Given the description of an element on the screen output the (x, y) to click on. 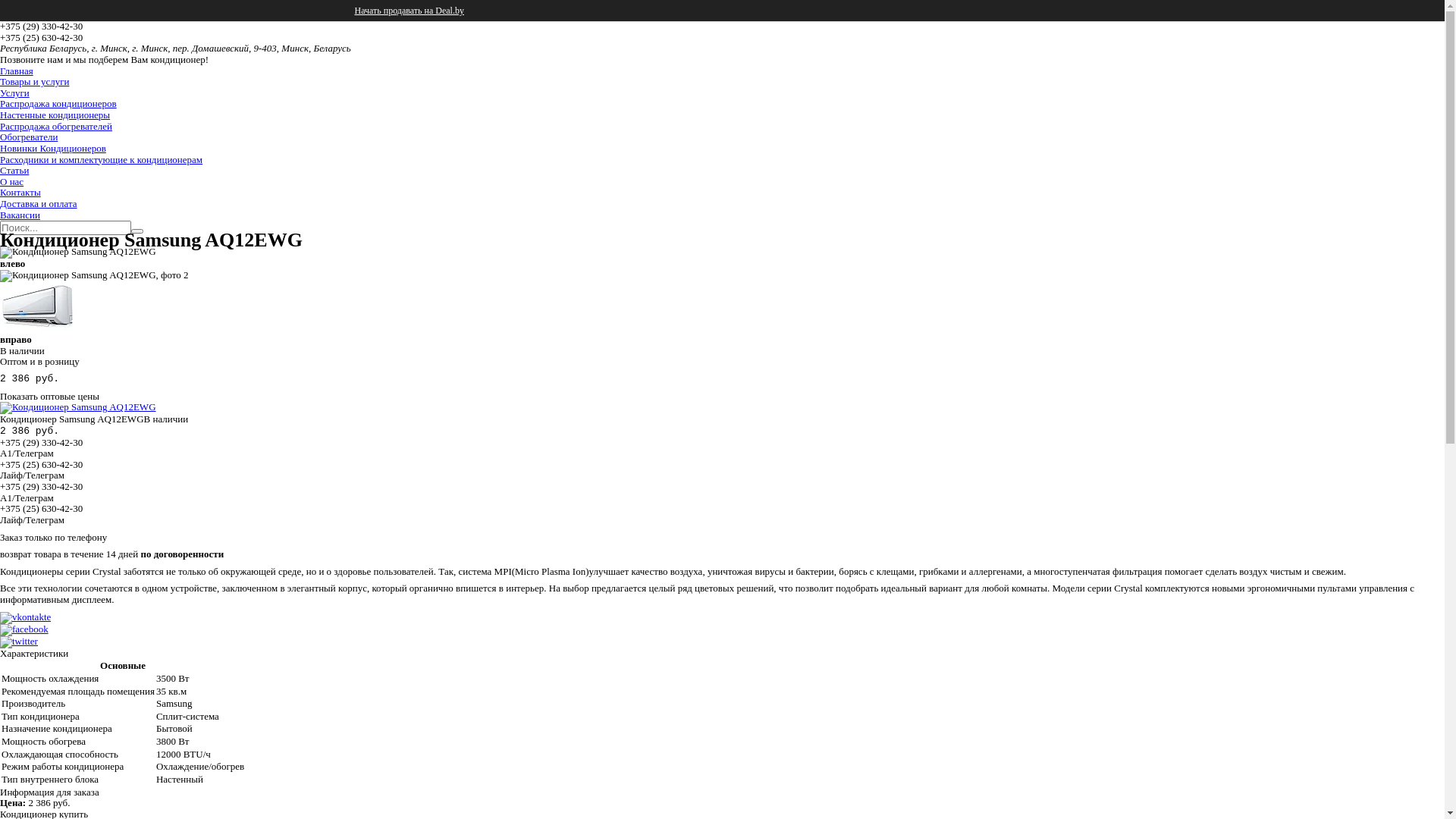
facebook Element type: hover (24, 628)
twitter Element type: hover (18, 640)
